Given the description of an element on the screen output the (x, y) to click on. 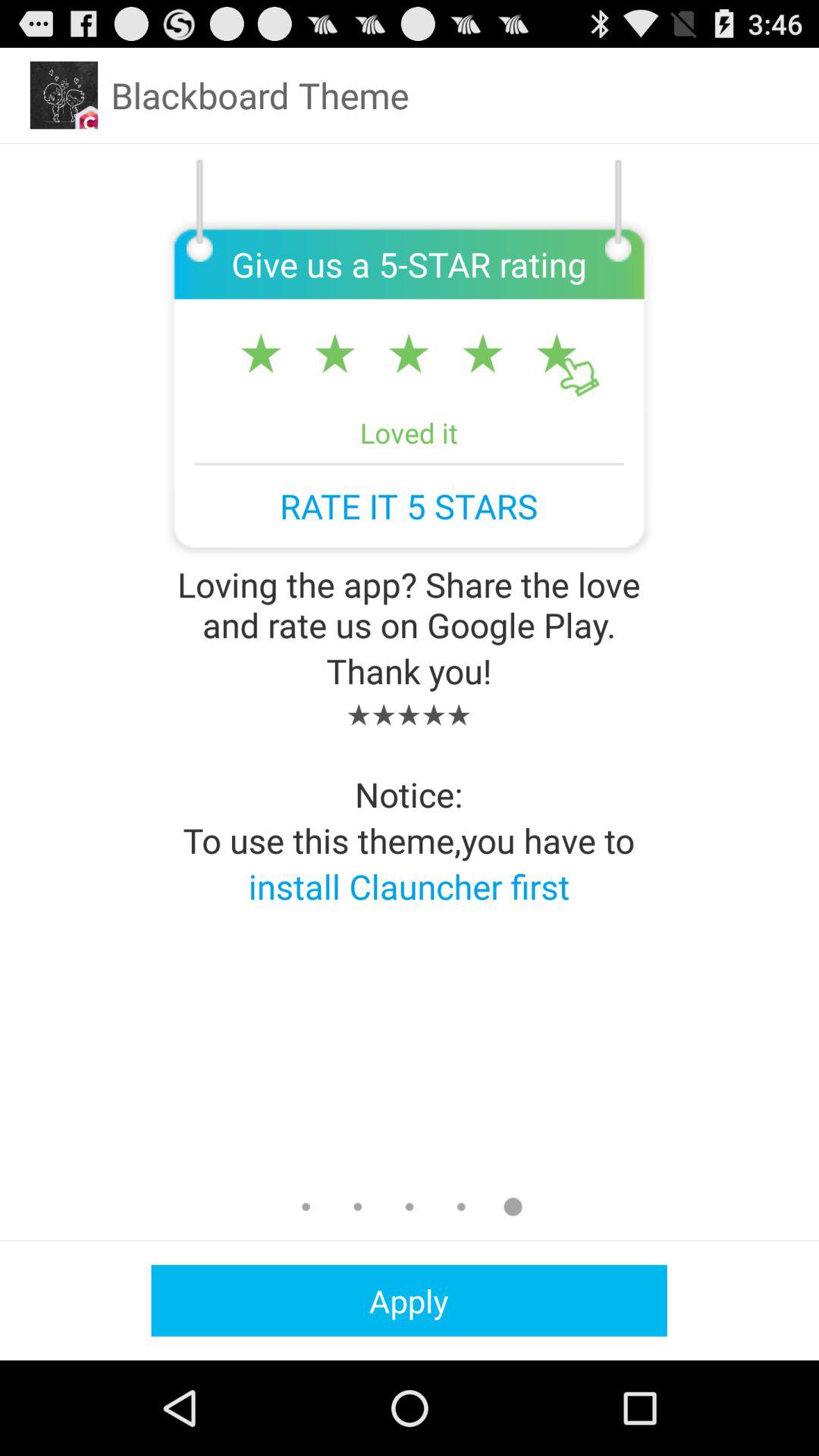
scroll to apply item (409, 1300)
